Given the description of an element on the screen output the (x, y) to click on. 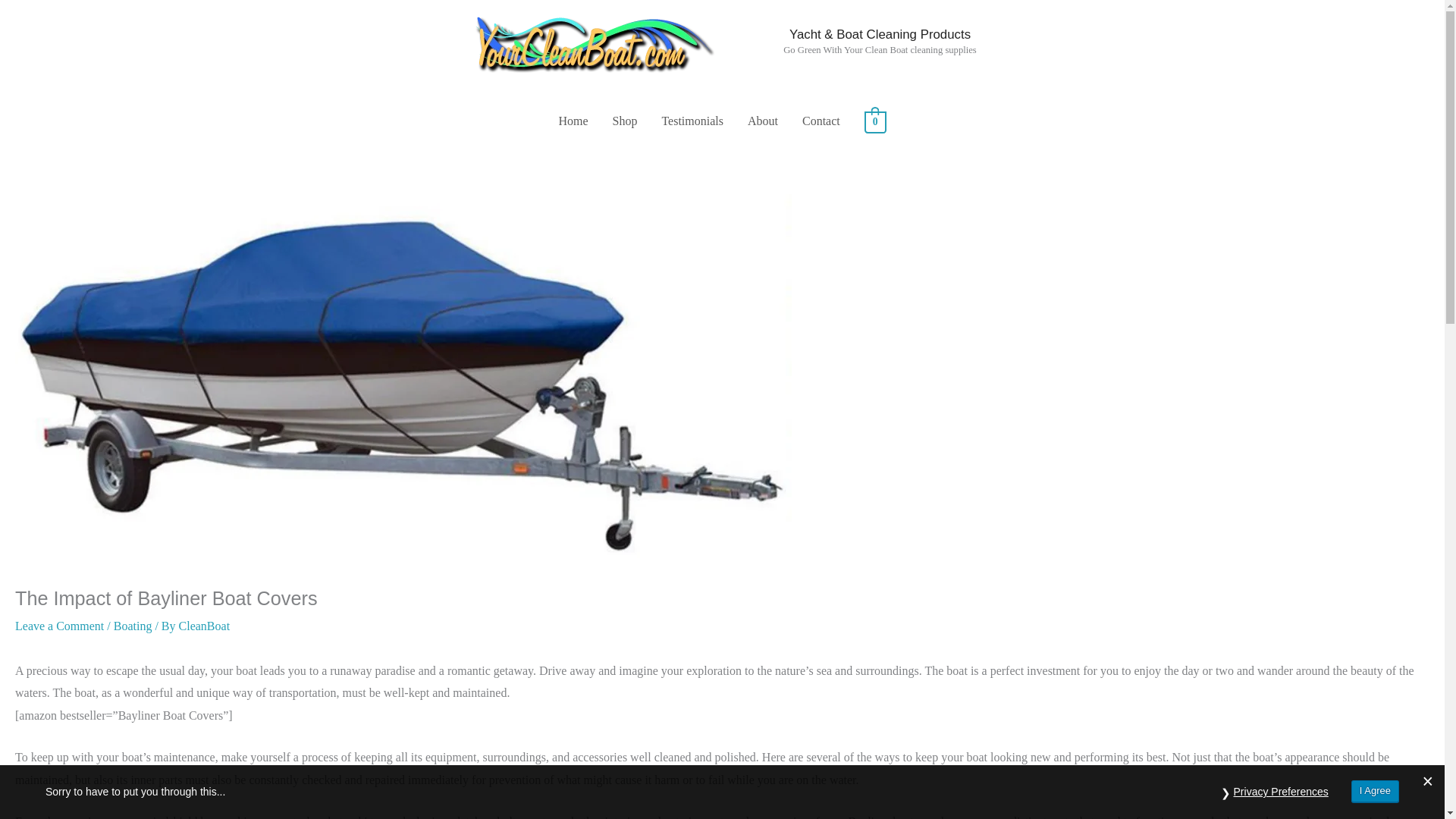
I Agree (1375, 791)
Privacy Preferences (1280, 791)
Shop (624, 121)
0 (875, 120)
View all posts by CleanBoat (204, 625)
About (762, 121)
Home (572, 121)
Contact (820, 121)
Leave a Comment (58, 625)
Boating (132, 625)
